Given the description of an element on the screen output the (x, y) to click on. 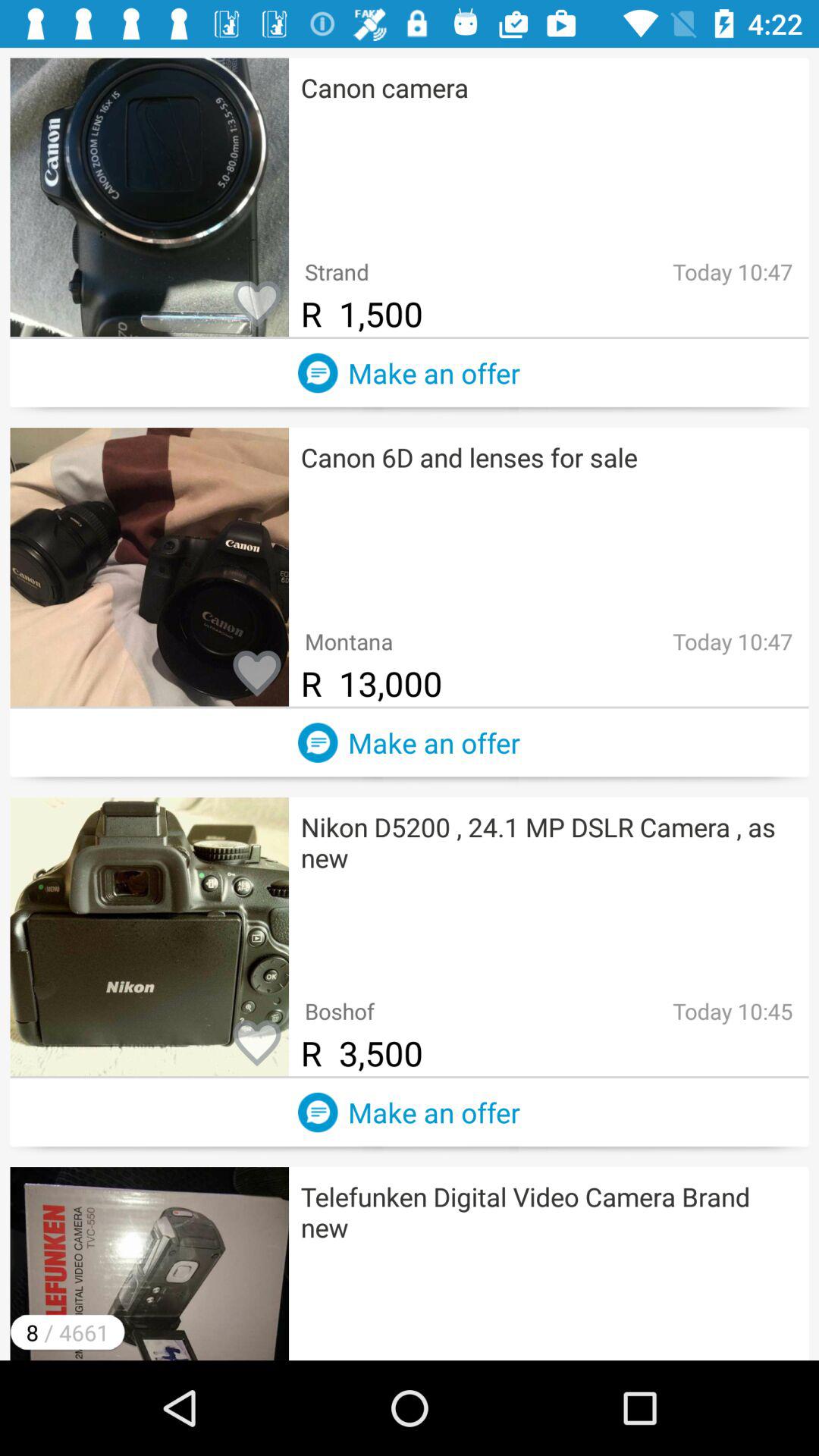
send offer message (317, 742)
